Given the description of an element on the screen output the (x, y) to click on. 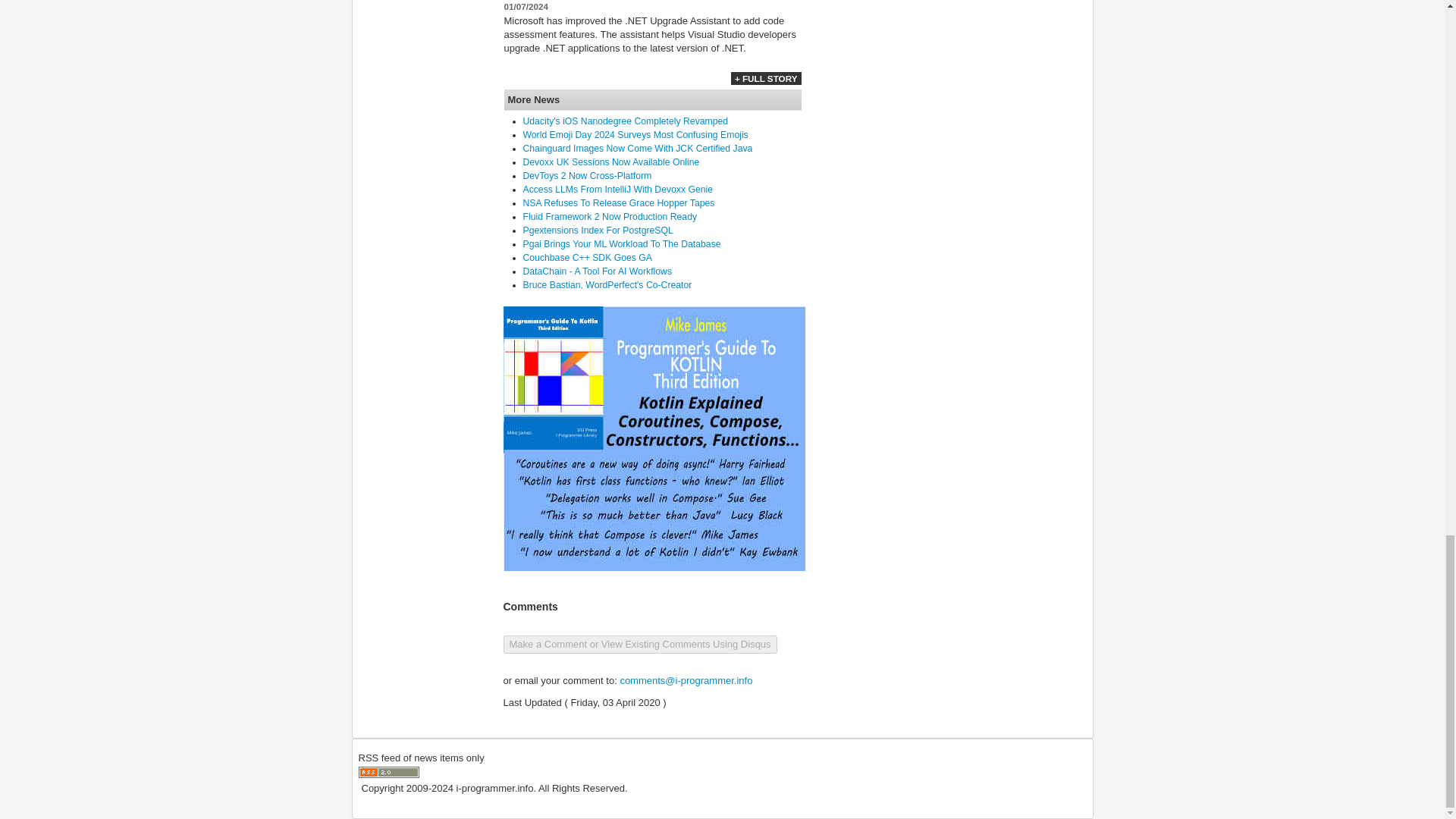
I Programmer News (388, 772)
